Given the description of an element on the screen output the (x, y) to click on. 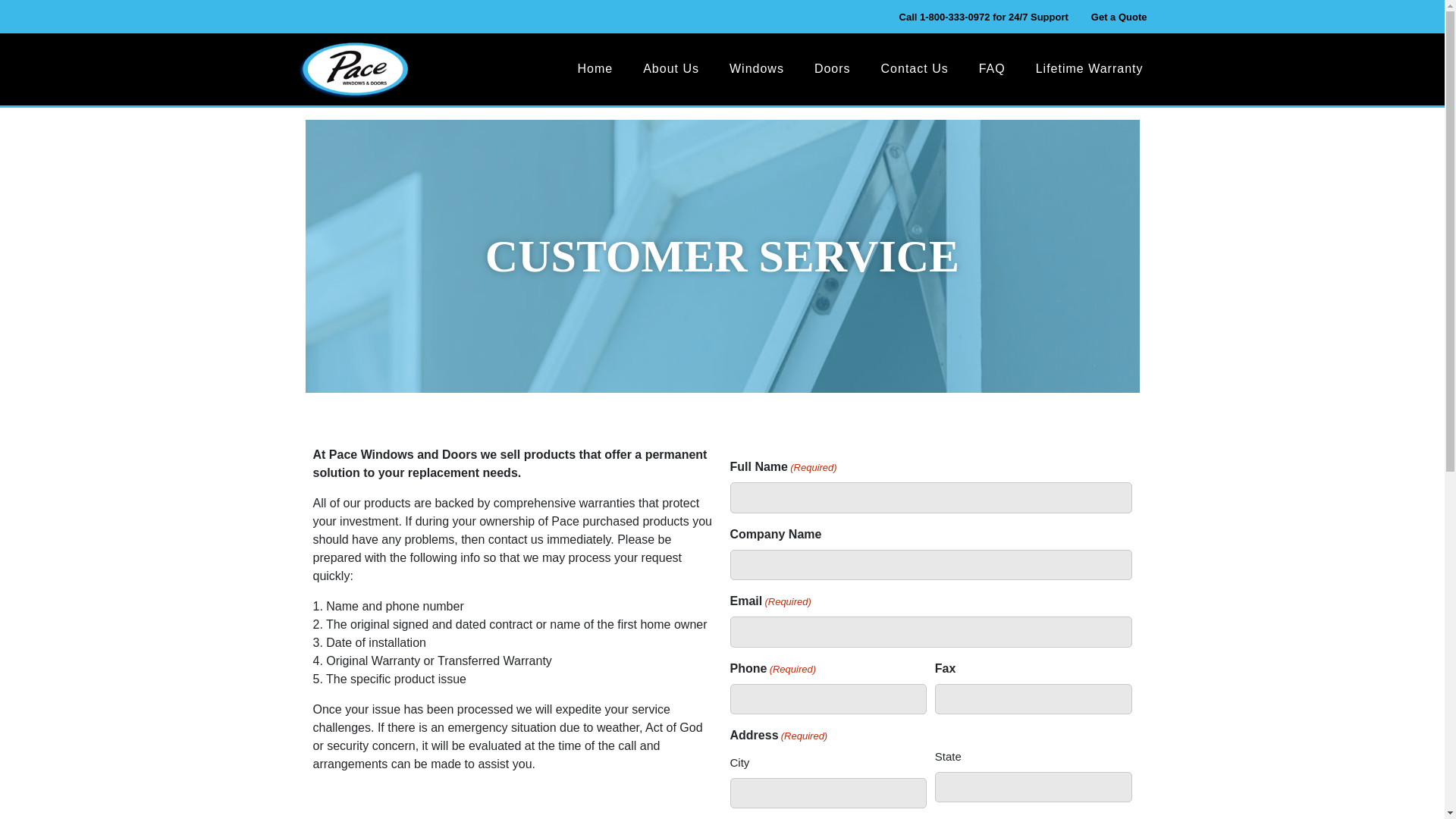
Contact Us (914, 68)
Get a Quote (1118, 17)
Home (594, 68)
FAQ (992, 68)
About Us (671, 68)
Lifetime Warranty (1089, 68)
Windows (756, 68)
Doors (832, 68)
